Given the description of an element on the screen output the (x, y) to click on. 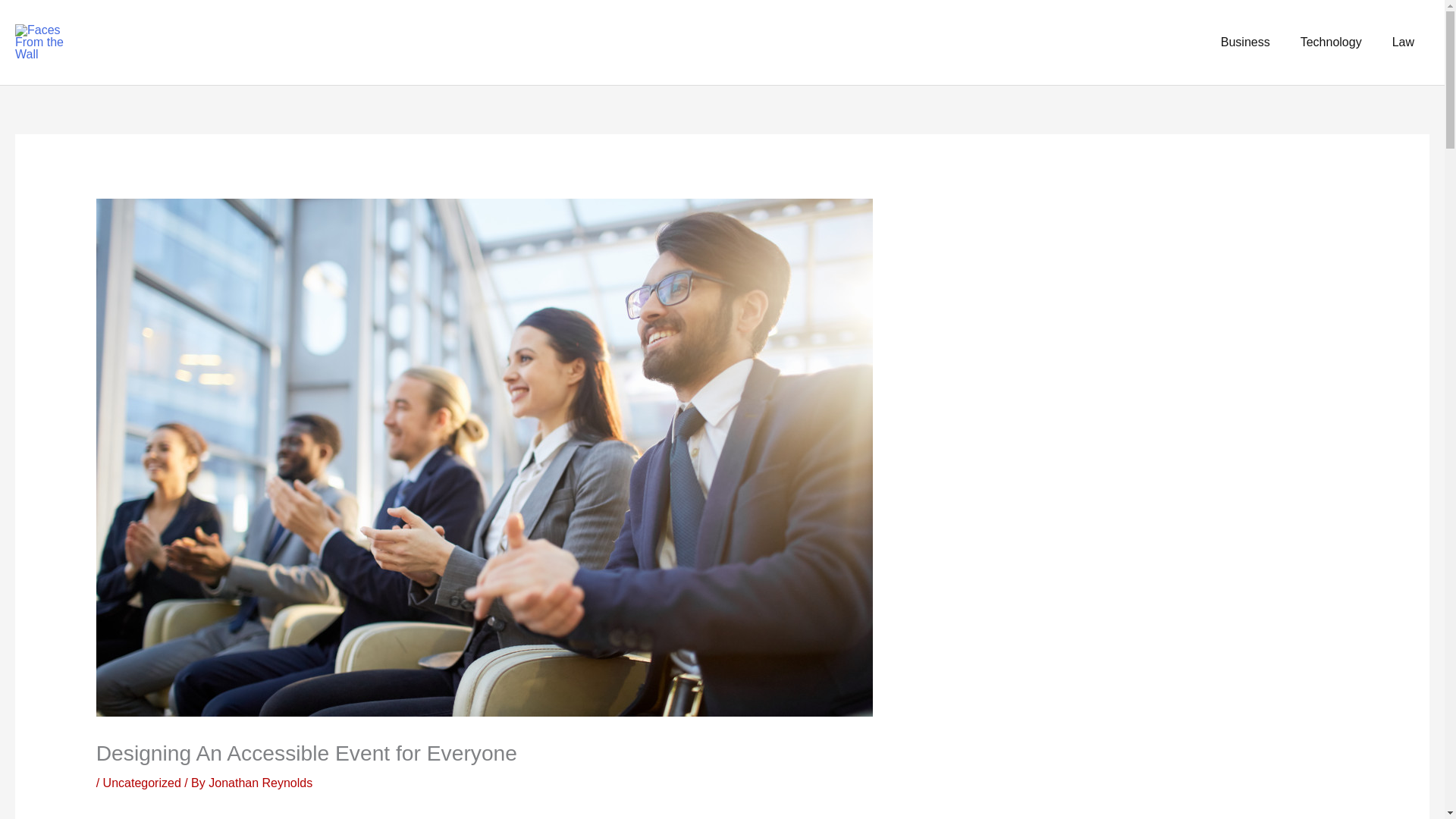
Uncategorized (141, 782)
Technology (1331, 42)
Business (1245, 42)
Jonathan Reynolds (260, 782)
View all posts by Jonathan Reynolds (260, 782)
Law (1403, 42)
